Given the description of an element on the screen output the (x, y) to click on. 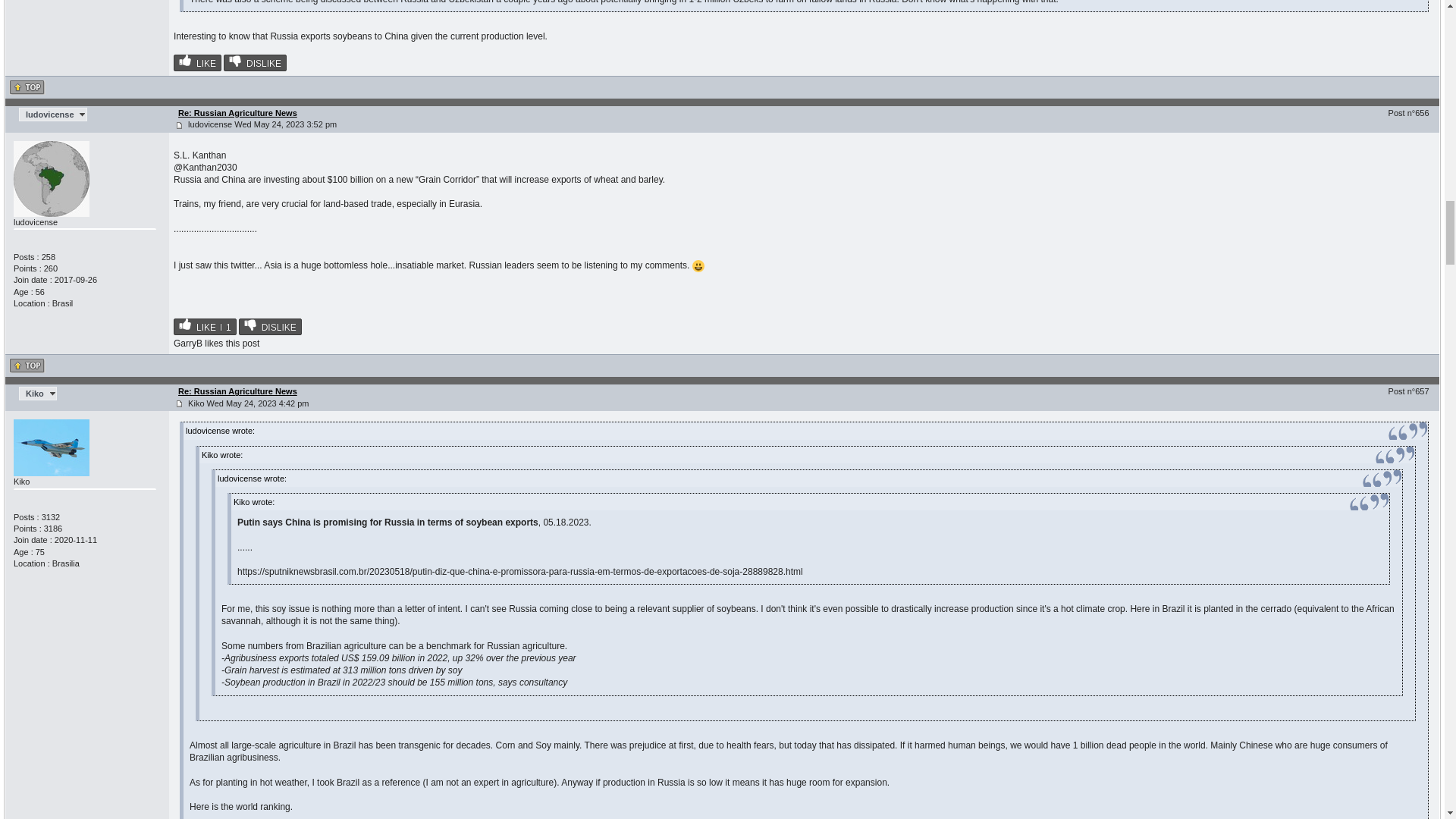
Post (178, 124)
Post (178, 403)
